Given the description of an element on the screen output the (x, y) to click on. 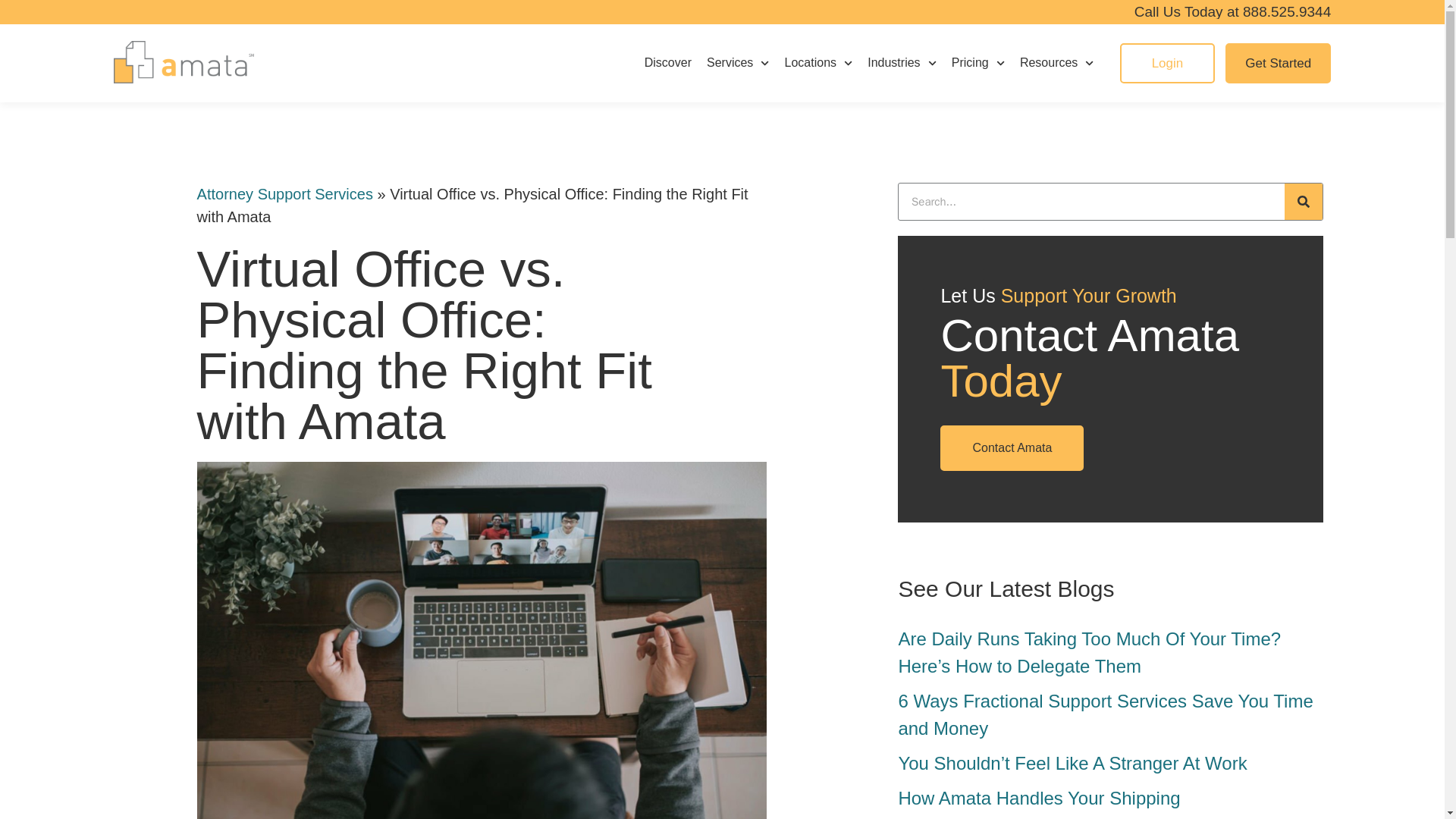
Locations (818, 62)
Discover (668, 62)
Industries (901, 62)
Call Us Today at 888.525.9344 (1233, 11)
Resources (1057, 62)
Services (738, 62)
Pricing (978, 62)
